Given the description of an element on the screen output the (x, y) to click on. 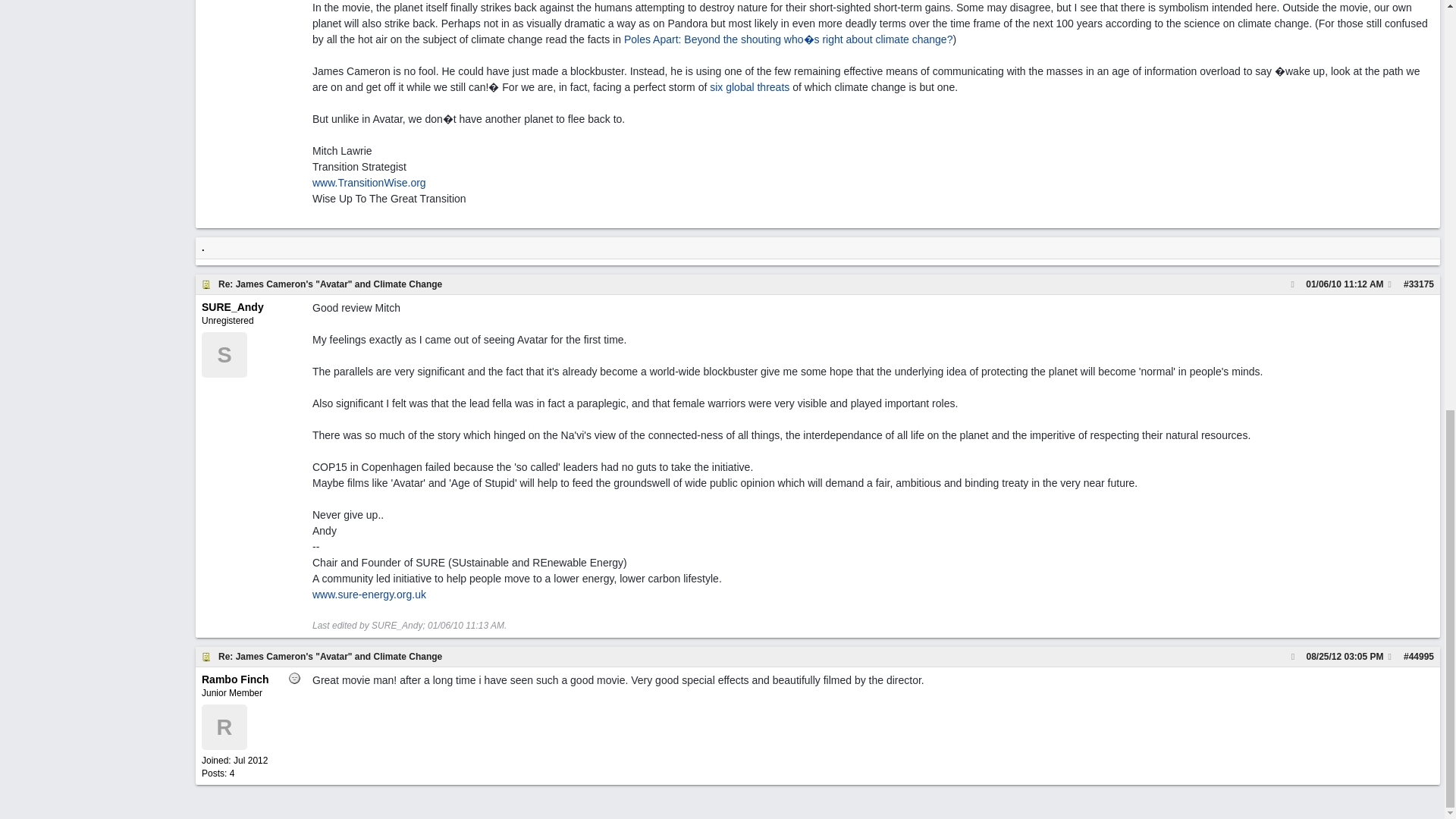
www.sure-energy.org.uk (369, 594)
in reply to (1292, 284)
Re: James Cameron's "Avatar" and Climate Change (330, 284)
33175 (1421, 284)
in reply to (1292, 655)
Re: James Cameron's "Avatar" and Climate Change (752, 655)
Re: James Cameron's "Avatar" and Climate Change (752, 284)
Share Post (1390, 283)
six global threats (749, 87)
www.TransitionWise.org (369, 182)
